Given the description of an element on the screen output the (x, y) to click on. 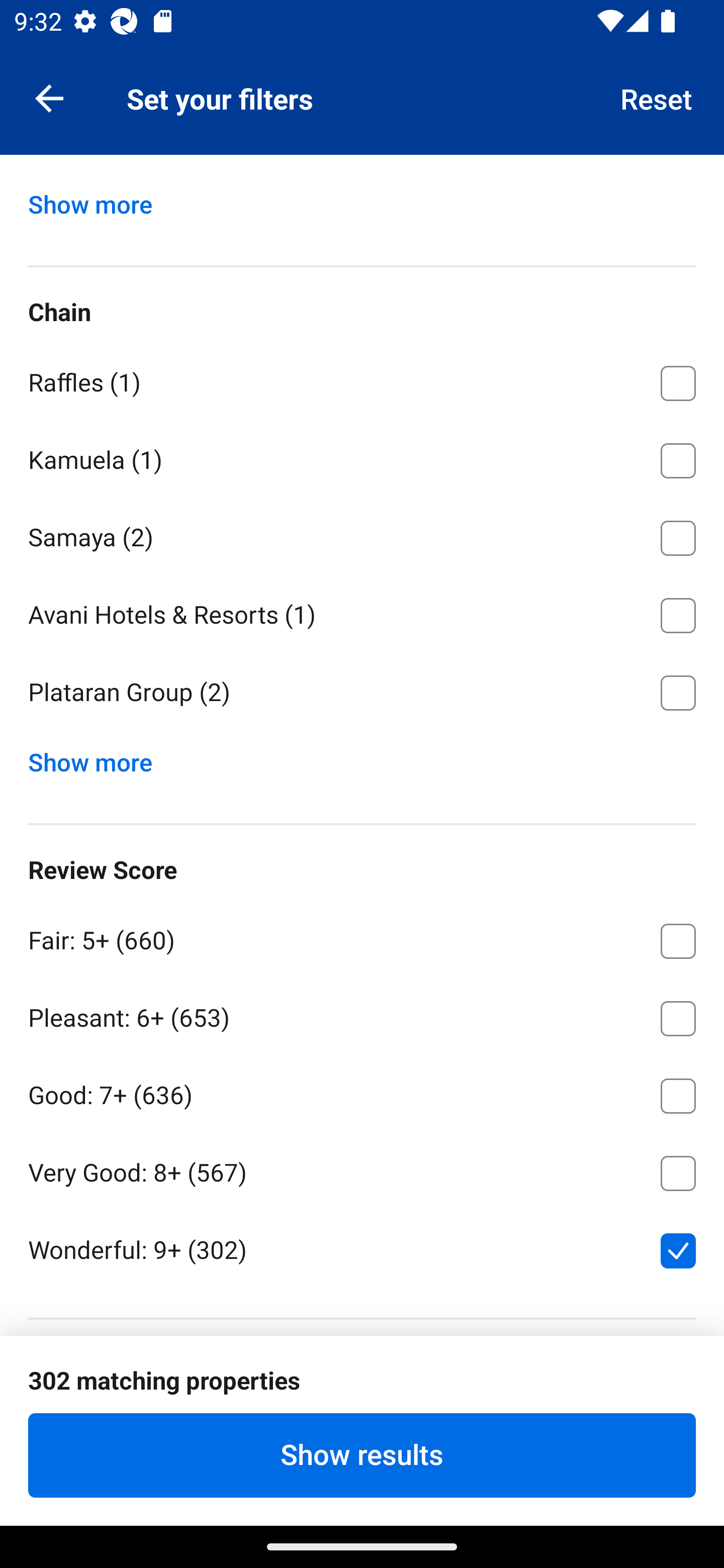
Navigate up (49, 97)
Reset (656, 97)
Show more (97, 199)
Raffles ⁦(1) (361, 379)
Kamuela ⁦(1) (361, 456)
Samaya ⁦(2) (361, 534)
Avani Hotels & Resorts ⁦(1) (361, 611)
Plataran Group ⁦(2) (361, 692)
Show more (97, 757)
Fair: 5+ ⁦(660) (361, 937)
Pleasant: 6+ ⁦(653) (361, 1014)
Good: 7+ ⁦(636) (361, 1091)
Very Good: 8+ ⁦(567) (361, 1169)
Wonderful: 9+ ⁦(302) (361, 1248)
Show results (361, 1454)
